Given the description of an element on the screen output the (x, y) to click on. 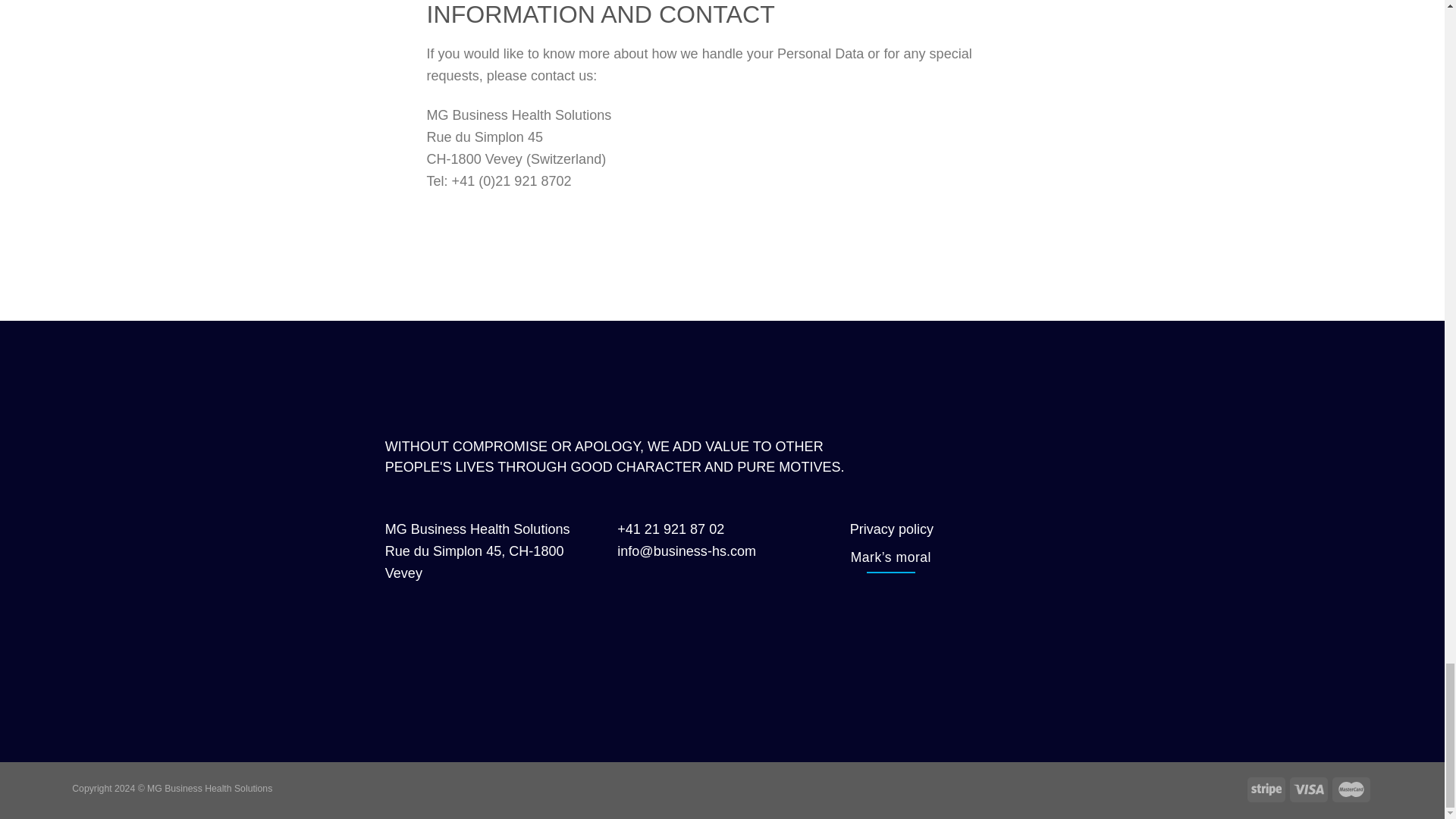
Privacy policy (891, 529)
